Given the description of an element on the screen output the (x, y) to click on. 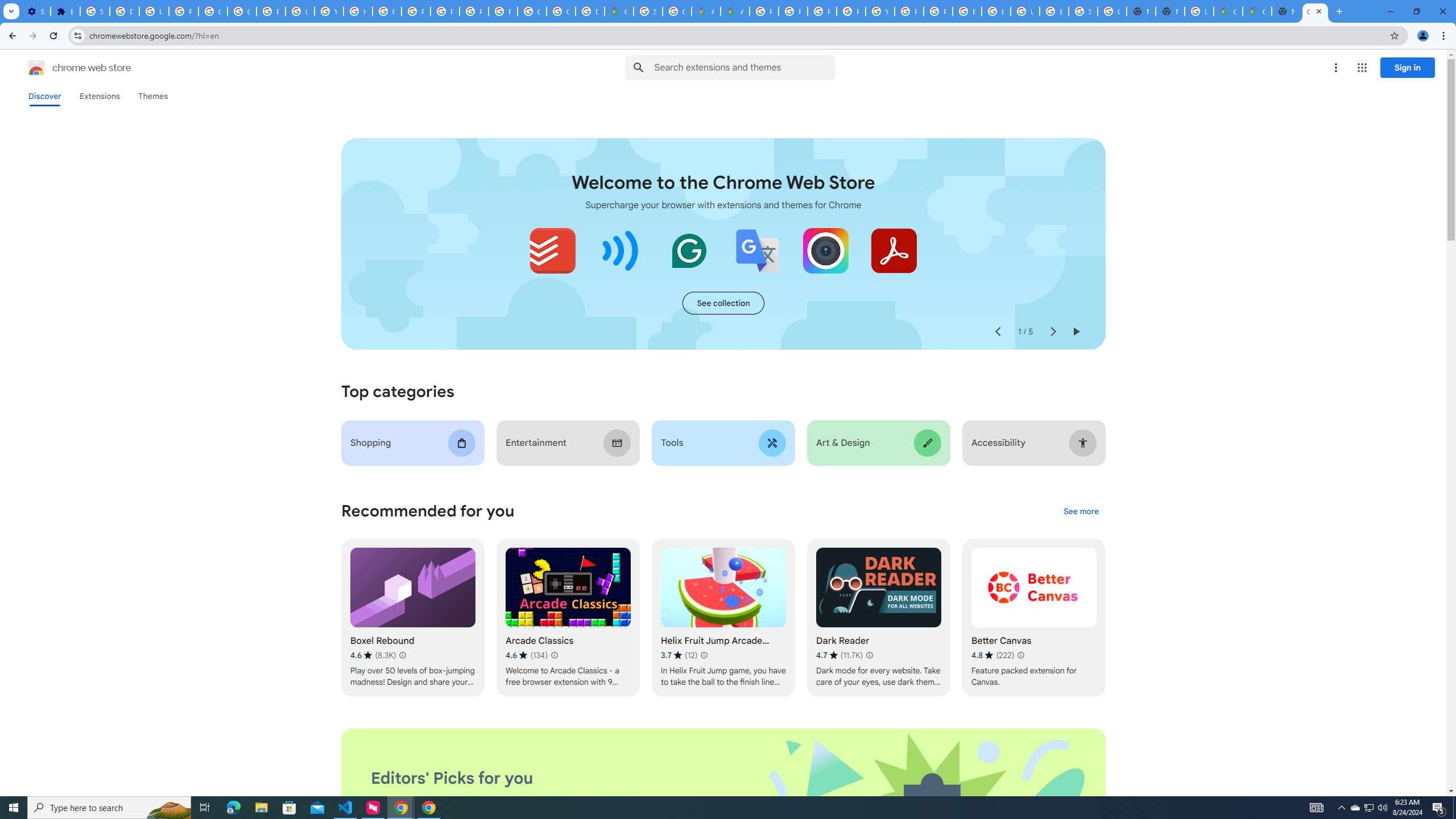
Google Maps (1256, 11)
Accessibility (1033, 443)
Sign in - Google Accounts (95, 11)
Search input (744, 67)
YouTube (879, 11)
Extensions (99, 95)
Awesome Screen Recorder & Screenshot (825, 250)
